Given the description of an element on the screen output the (x, y) to click on. 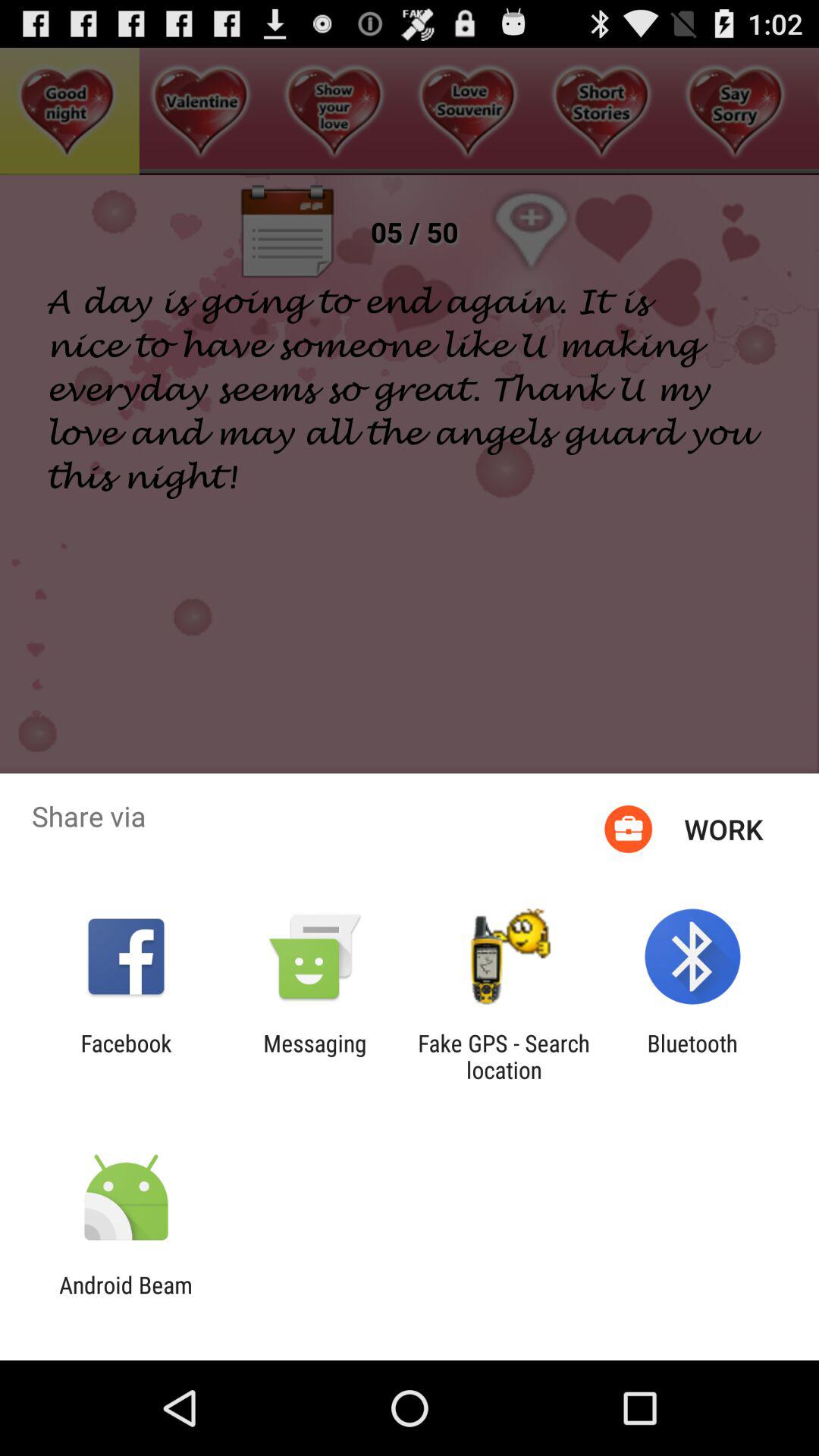
press icon to the left of fake gps search (314, 1056)
